Given the description of an element on the screen output the (x, y) to click on. 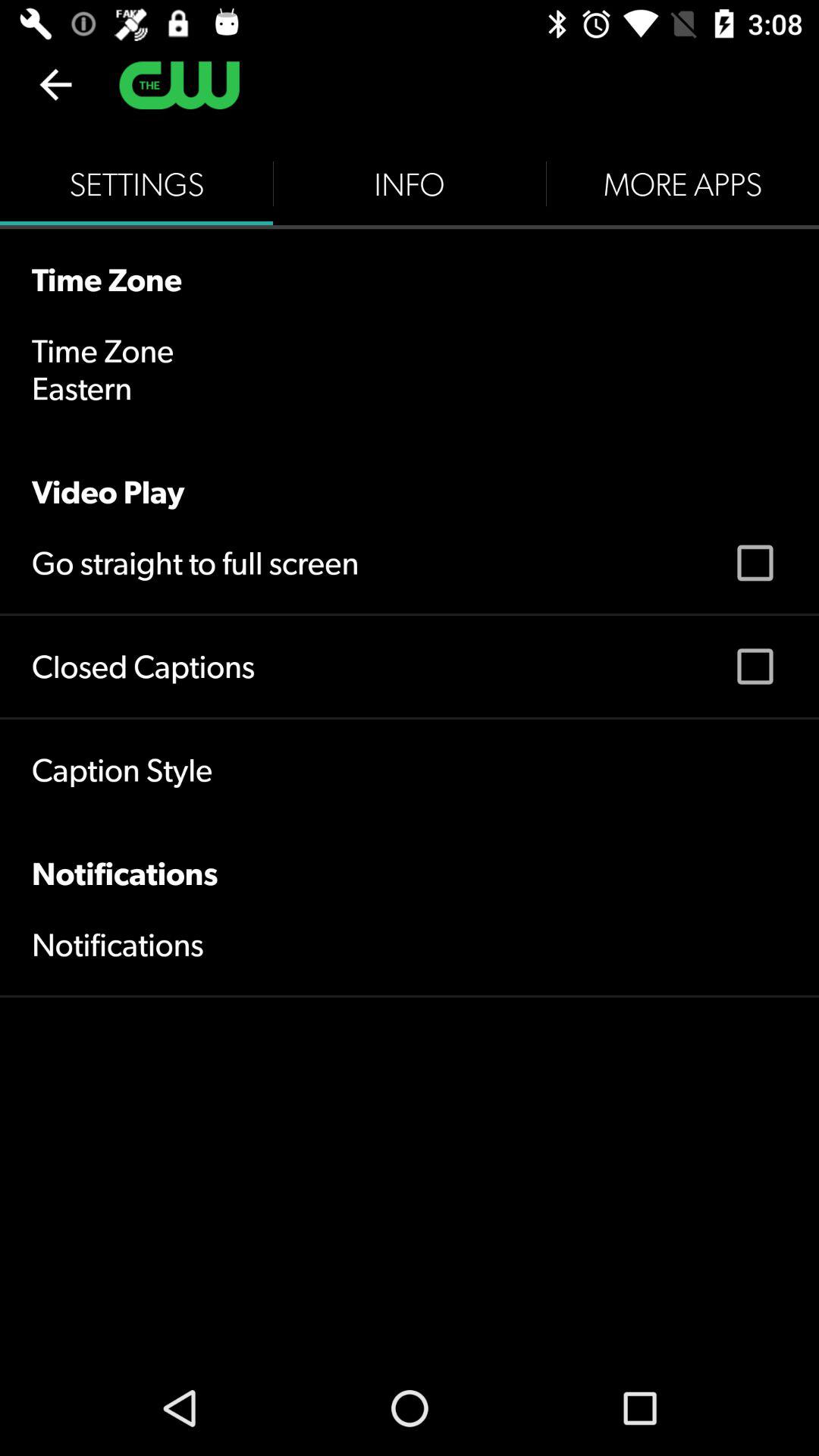
click the item next to the settings icon (409, 184)
